Given the description of an element on the screen output the (x, y) to click on. 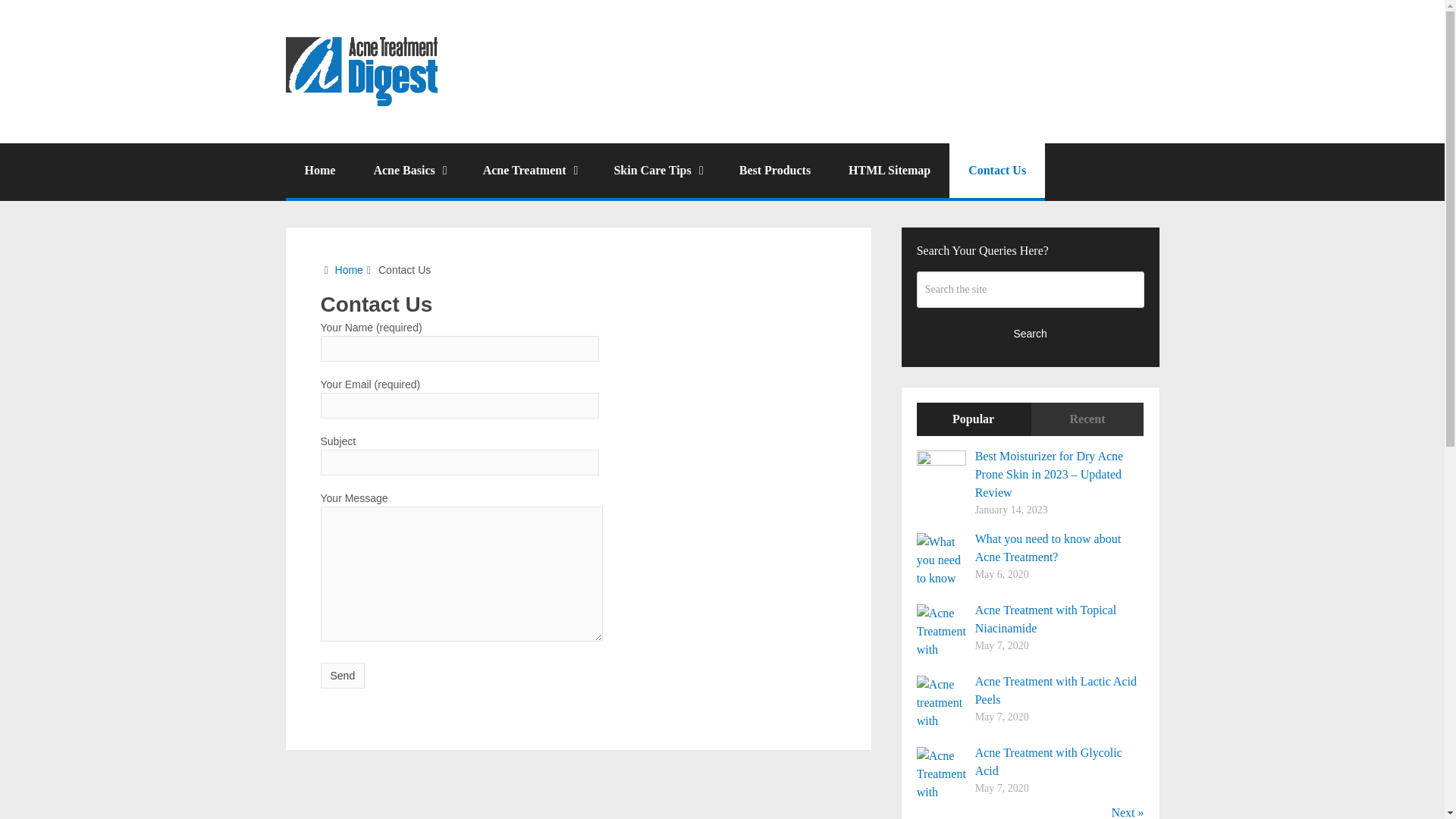
HTML Sitemap (889, 171)
What you need to know about Acne Treatment? (1048, 547)
Search (1030, 333)
Acne Treatment (529, 171)
Best Products (774, 171)
Popular (973, 418)
Home (348, 269)
Recent (1087, 418)
Send (342, 675)
Acne Treatment with Glycolic Acid (1048, 761)
